Given the description of an element on the screen output the (x, y) to click on. 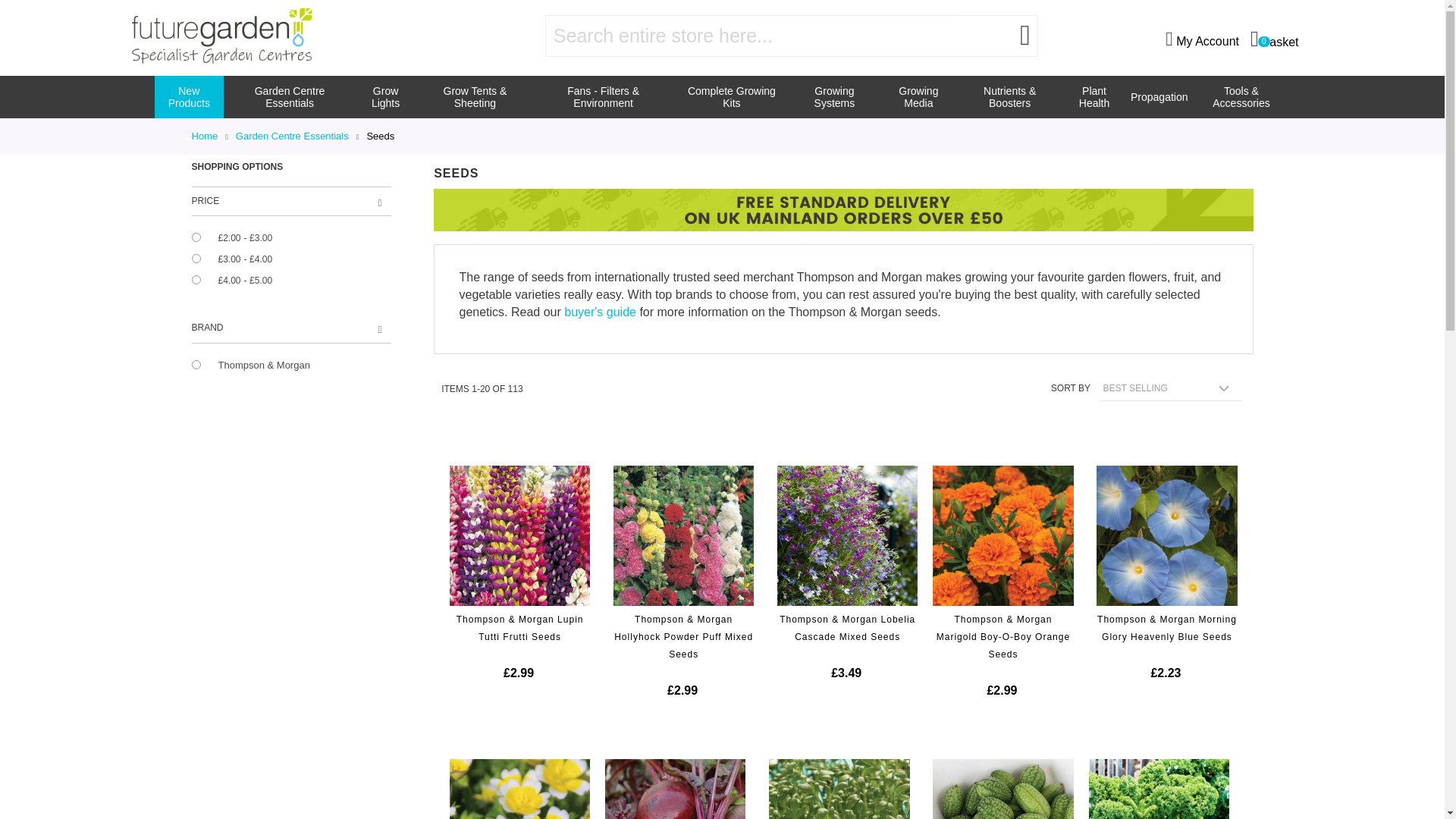
Future Garden (221, 35)
New Products (188, 97)
Garden Centre Essentials (289, 96)
Go to Home Page (1274, 38)
